Given the description of an element on the screen output the (x, y) to click on. 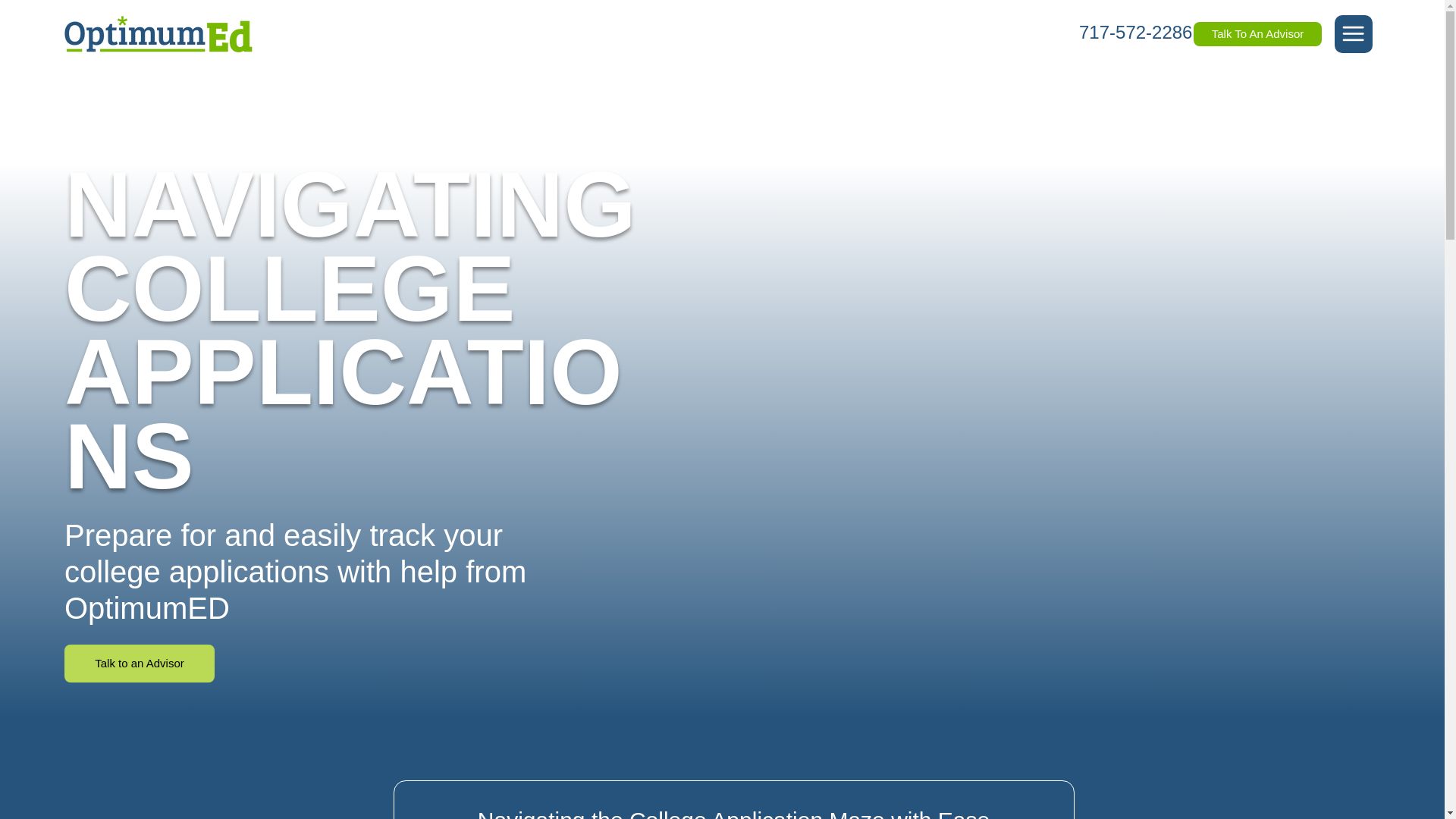
717-572-2286 (1135, 32)
Talk to an Advisor (139, 663)
Talk To An Advisor (1257, 33)
